Given the description of an element on the screen output the (x, y) to click on. 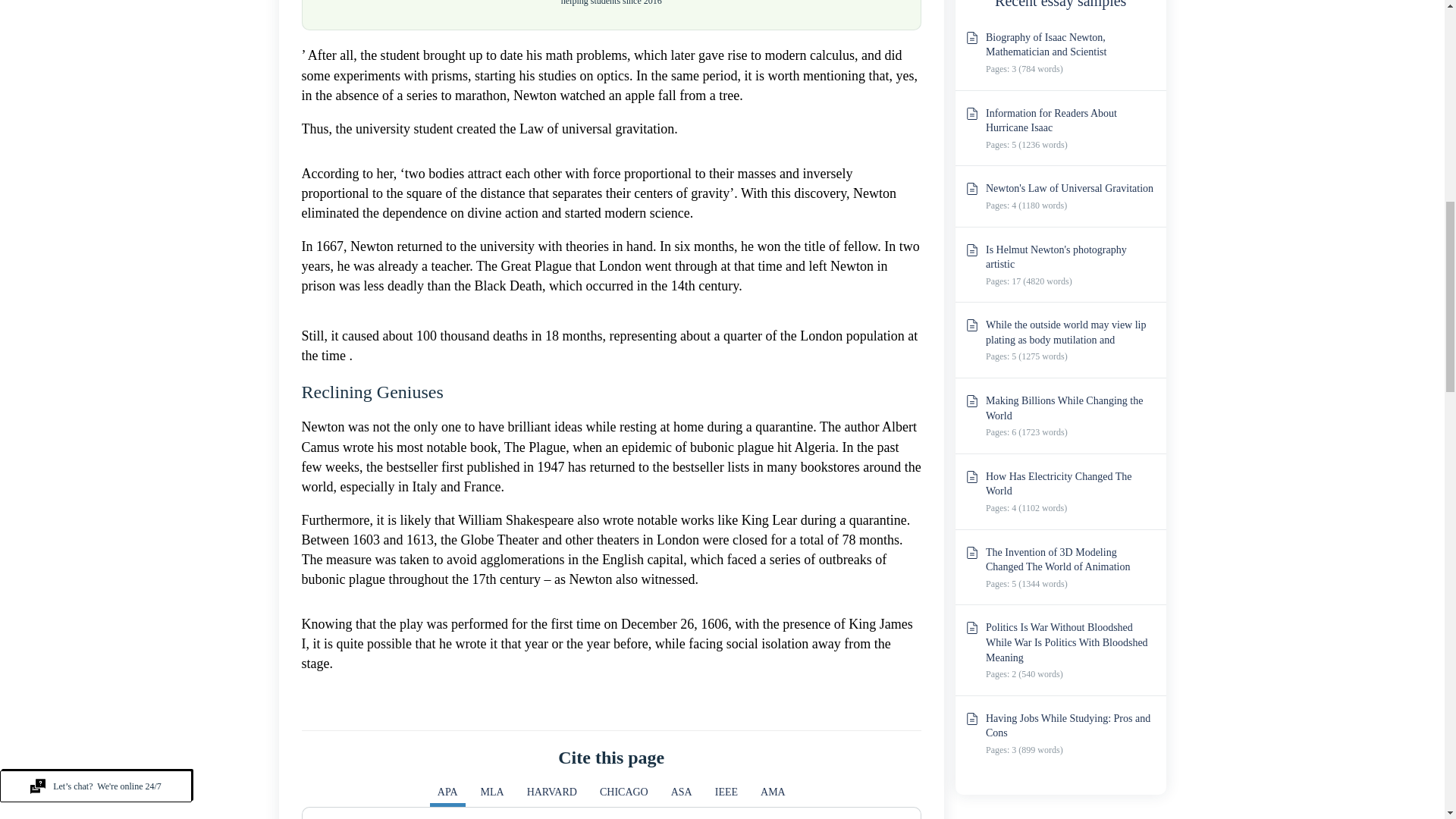
CHICAGO (624, 795)
Making Billions While Changing the World (1063, 407)
MLA (492, 795)
How Has Electricity Changed The World (1058, 483)
Is Helmut Newton's photography artistic (1055, 257)
APA (447, 795)
Information for Readers About Hurricane Isaac (1050, 120)
AMA (772, 795)
